Given the description of an element on the screen output the (x, y) to click on. 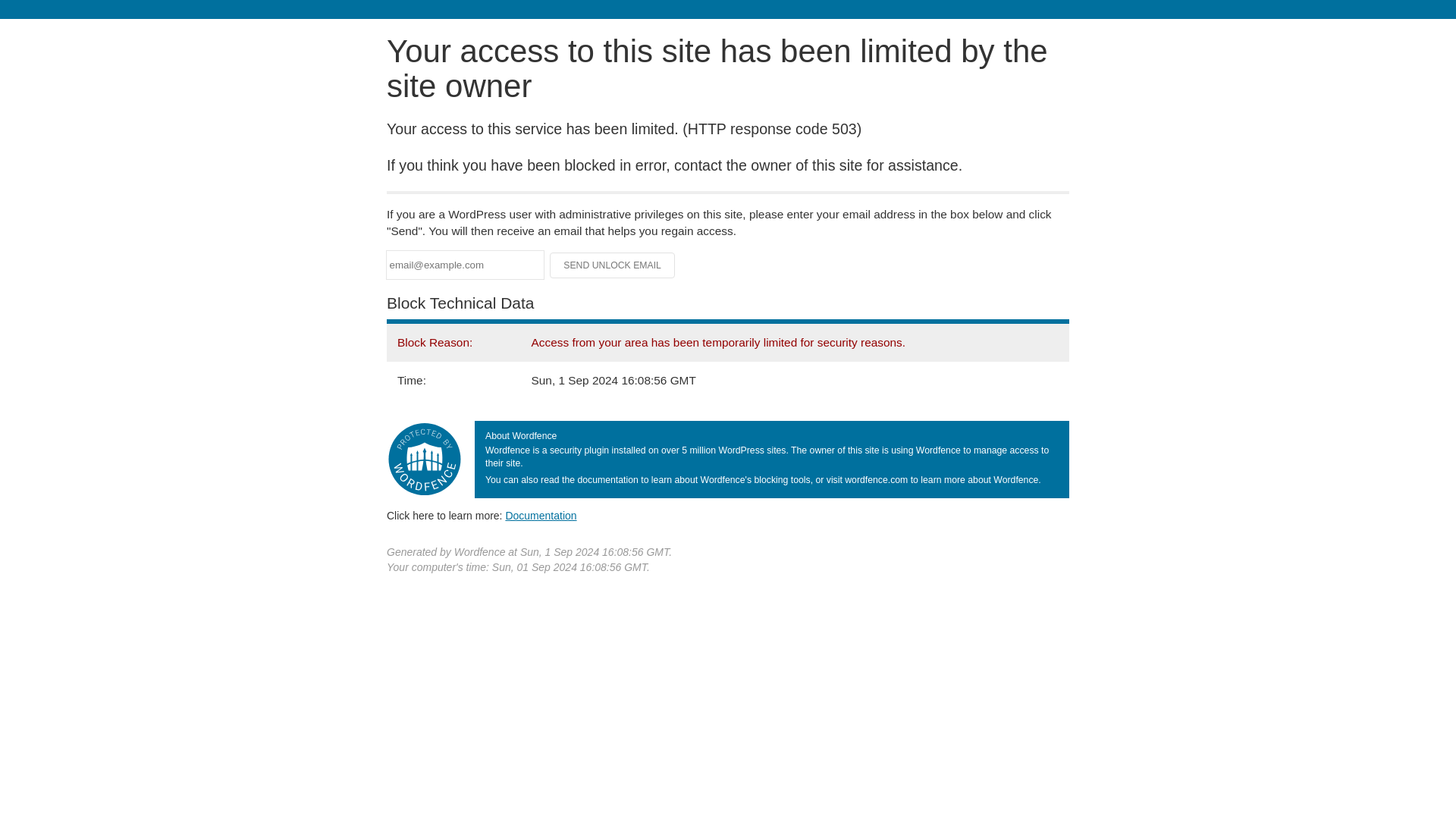
Documentation (540, 515)
Send Unlock Email (612, 265)
Send Unlock Email (612, 265)
